Given the description of an element on the screen output the (x, y) to click on. 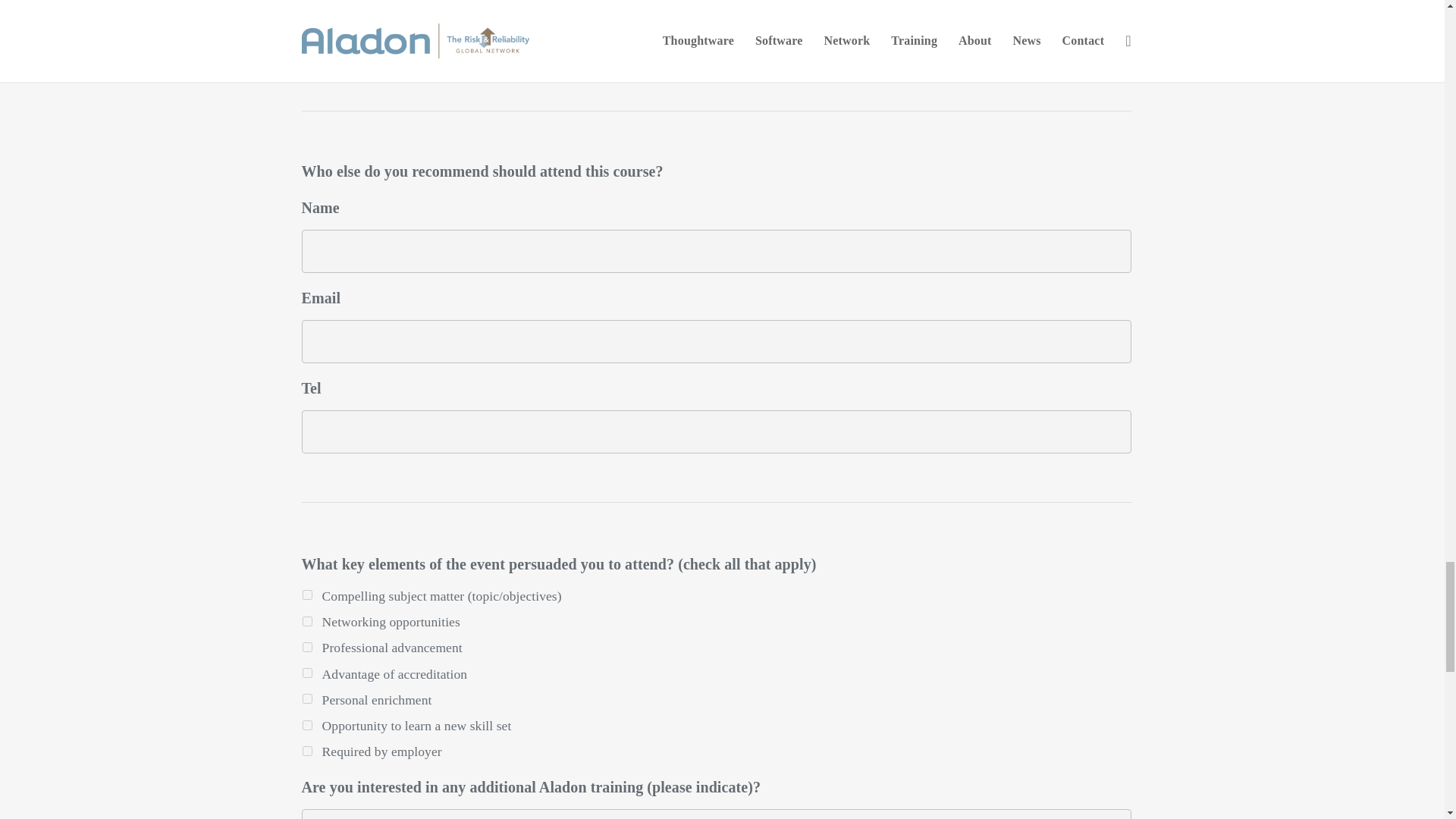
Required by employer (306, 750)
Opportunity to learn a new skill set (306, 725)
Personal enrichment (306, 698)
Professional advancement (306, 646)
Yes (306, 25)
Advantage of accreditation (306, 673)
No (306, 50)
Networking opportunities (306, 621)
